Given the description of an element on the screen output the (x, y) to click on. 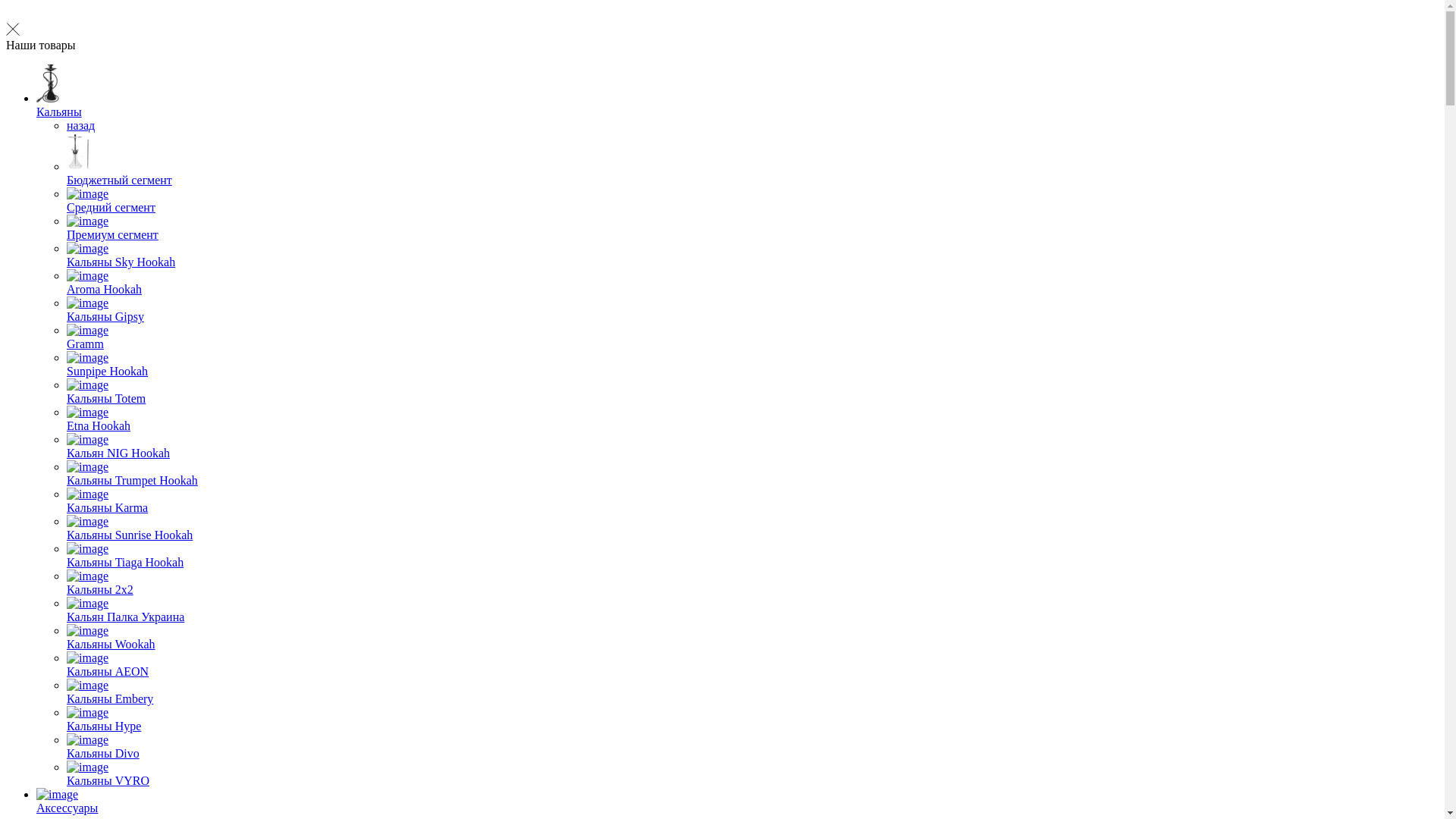
Gramm Element type: text (752, 337)
Sunpipe Hookah Element type: text (752, 364)
Aroma Hookah Element type: text (752, 282)
Etna Hookah Element type: text (752, 419)
